Given the description of an element on the screen output the (x, y) to click on. 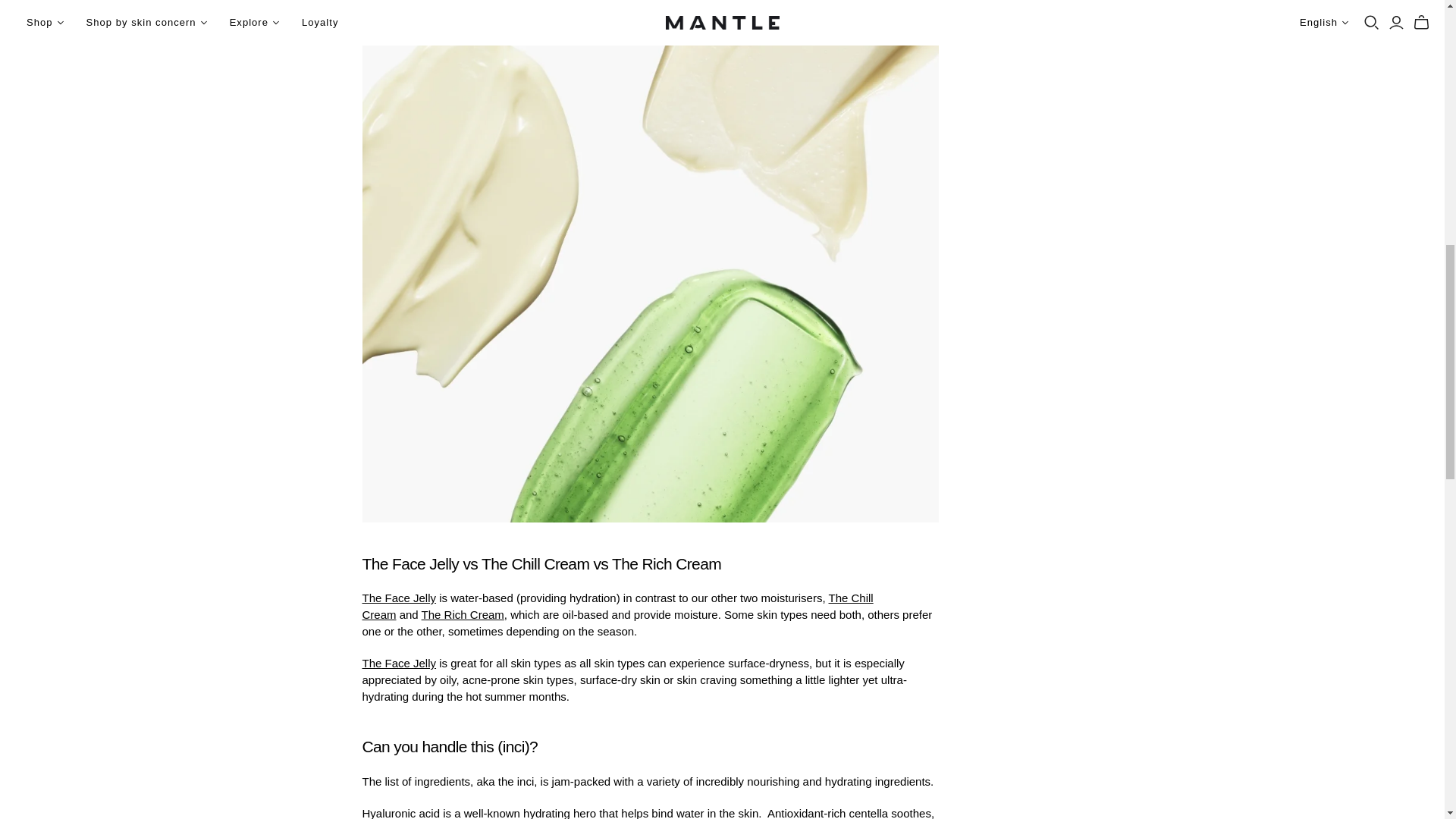
The Face Jelly (399, 662)
The Chill Cream (617, 605)
The Rich Cream (462, 614)
The Face Jelly (399, 597)
